Given the description of an element on the screen output the (x, y) to click on. 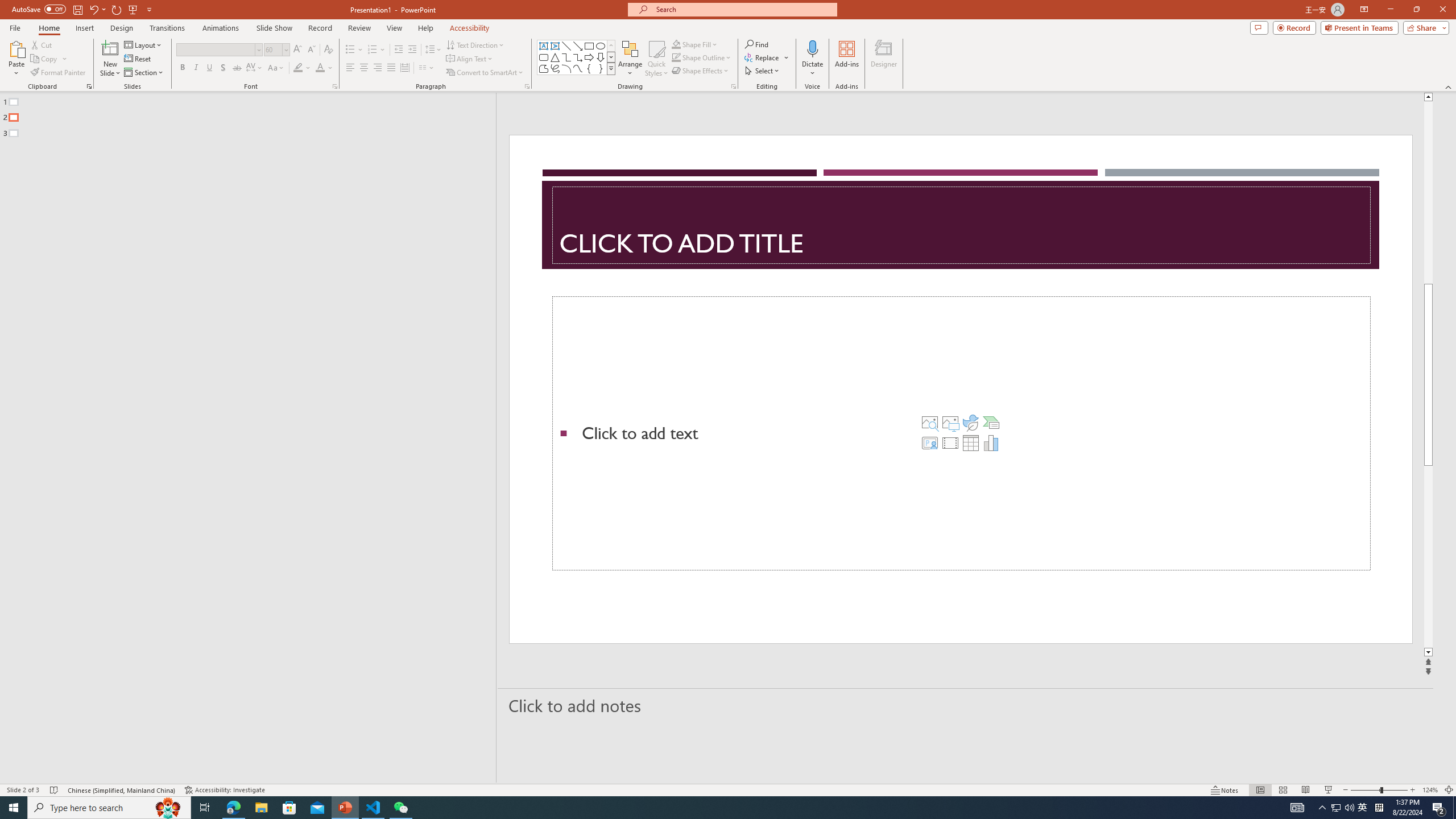
Content Placeholder (960, 433)
